Given the description of an element on the screen output the (x, y) to click on. 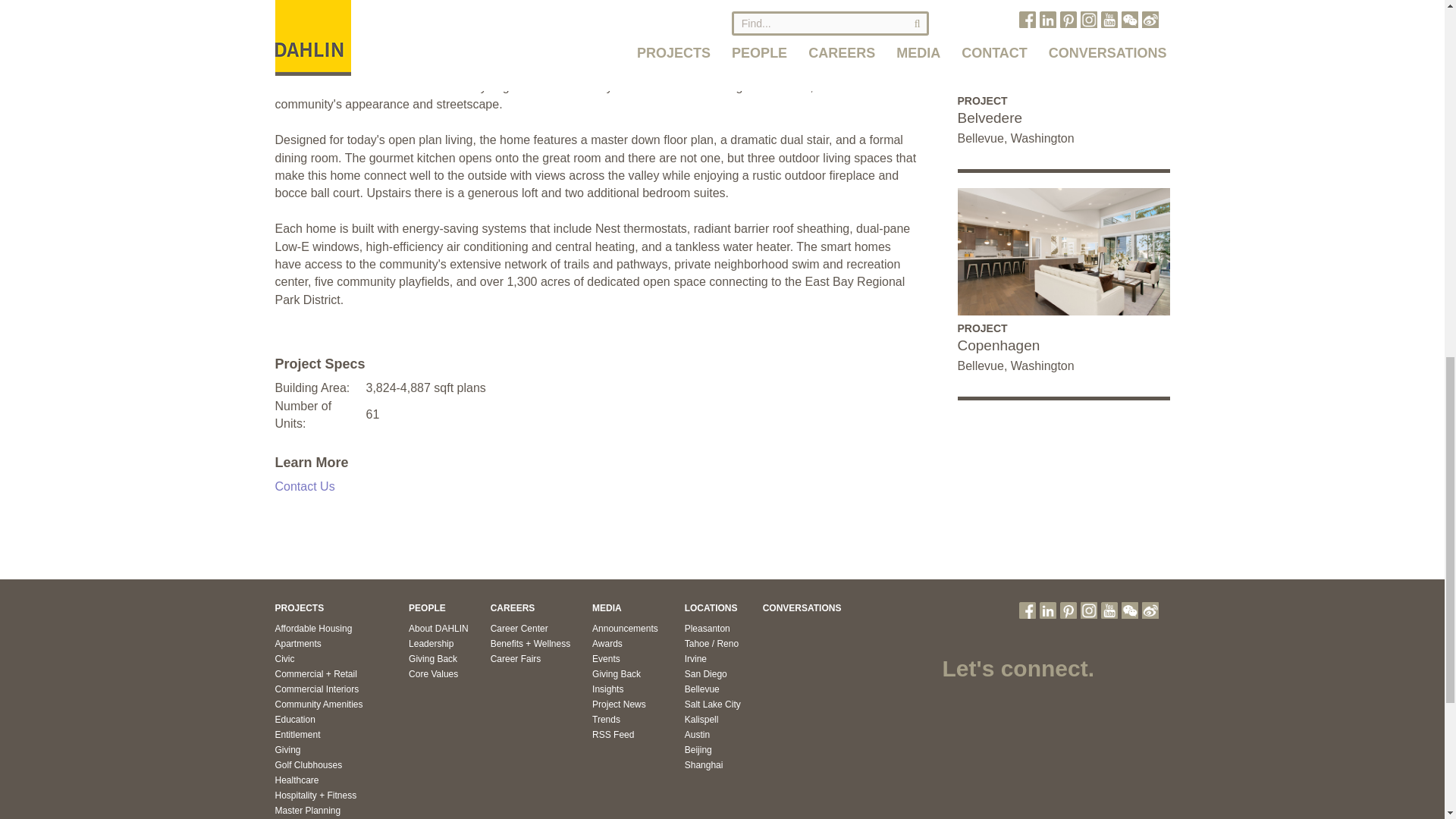
Master Planning (307, 810)
Weibo (1149, 610)
Instagram (1088, 610)
Contact Us (304, 486)
Affordable Housing (313, 628)
Belvedere (1062, 118)
Education (294, 719)
LinkedIn (1047, 610)
PROJECTS (299, 607)
Commercial Interiors (316, 688)
Giving (287, 749)
Healthcare (296, 779)
Pinterest (1068, 610)
Community Amenities (318, 704)
Golf Clubhouses (308, 765)
